Given the description of an element on the screen output the (x, y) to click on. 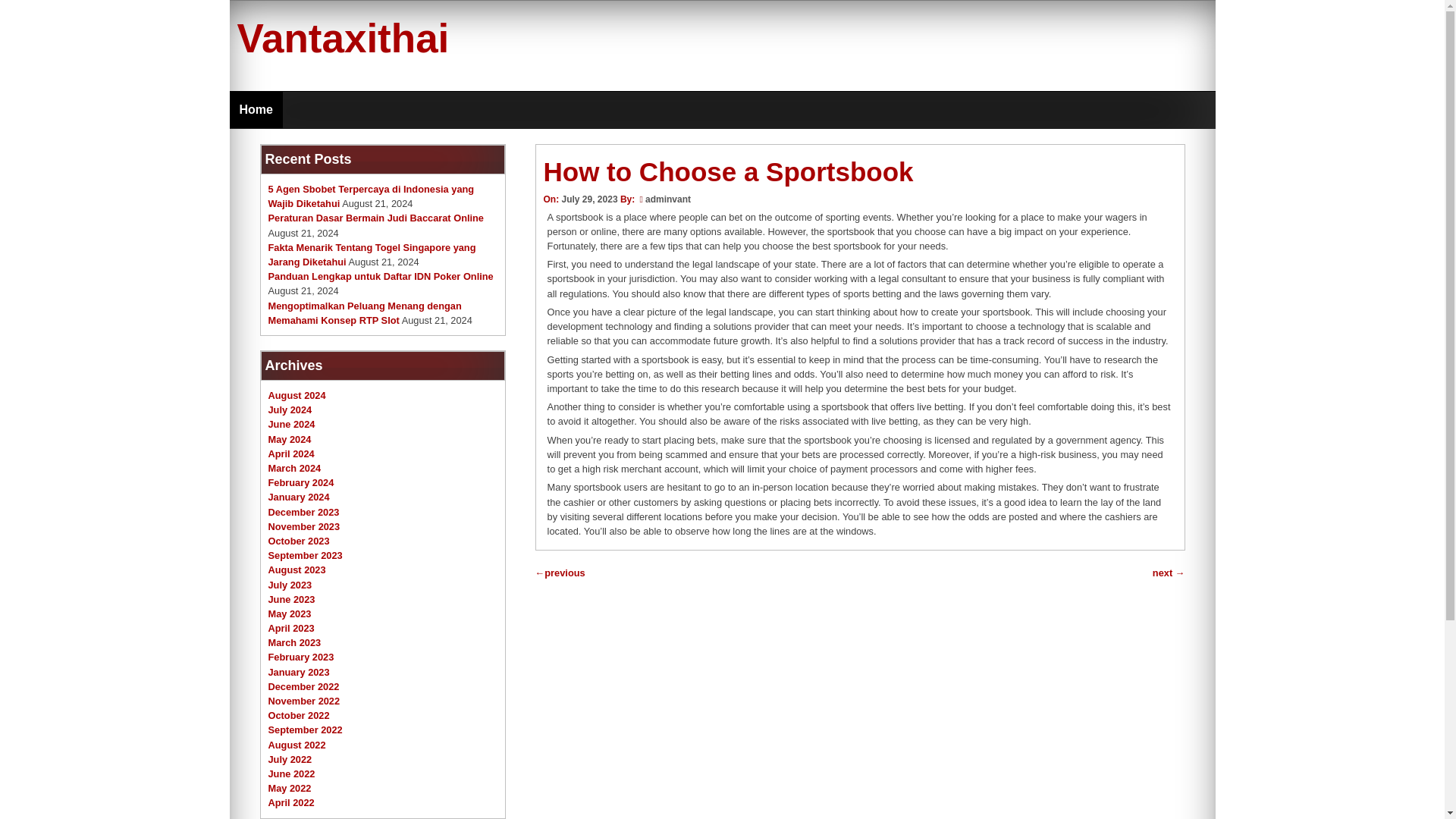
March 2023 (294, 642)
August 2024 (296, 395)
September 2022 (304, 729)
June 2024 (291, 423)
May 2023 (289, 613)
June 2022 (291, 773)
July 2023 (290, 584)
March 2024 (294, 468)
July 2024 (290, 409)
